Given the description of an element on the screen output the (x, y) to click on. 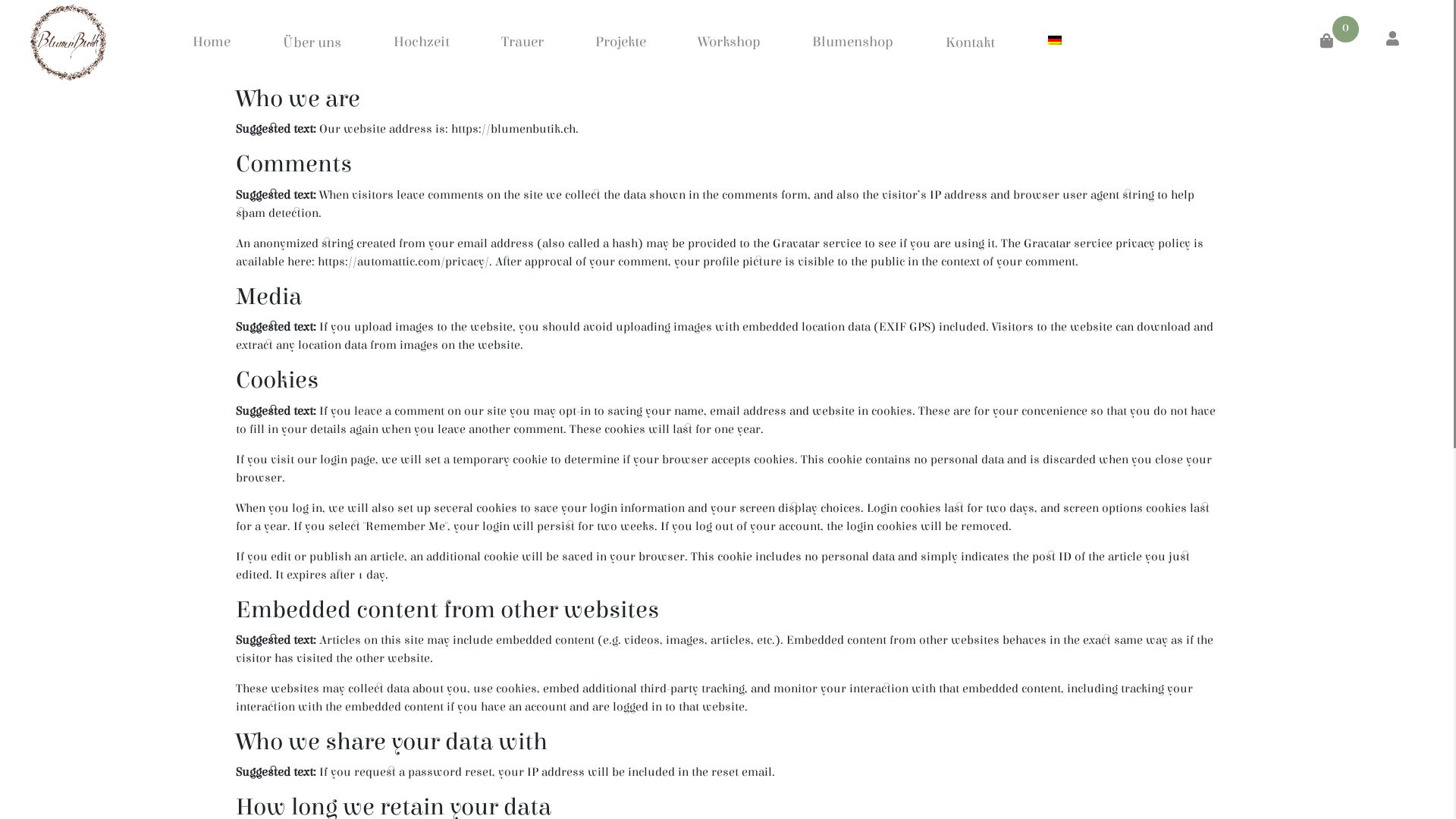
Trauer Element type: text (522, 41)
Home Element type: text (211, 41)
0 Element type: text (1339, 44)
Blumenshop Element type: text (852, 41)
Projekte Element type: text (620, 41)
Workshop Element type: text (729, 41)
Kontakt Element type: text (970, 42)
Hochzeit Element type: text (421, 41)
